Given the description of an element on the screen output the (x, y) to click on. 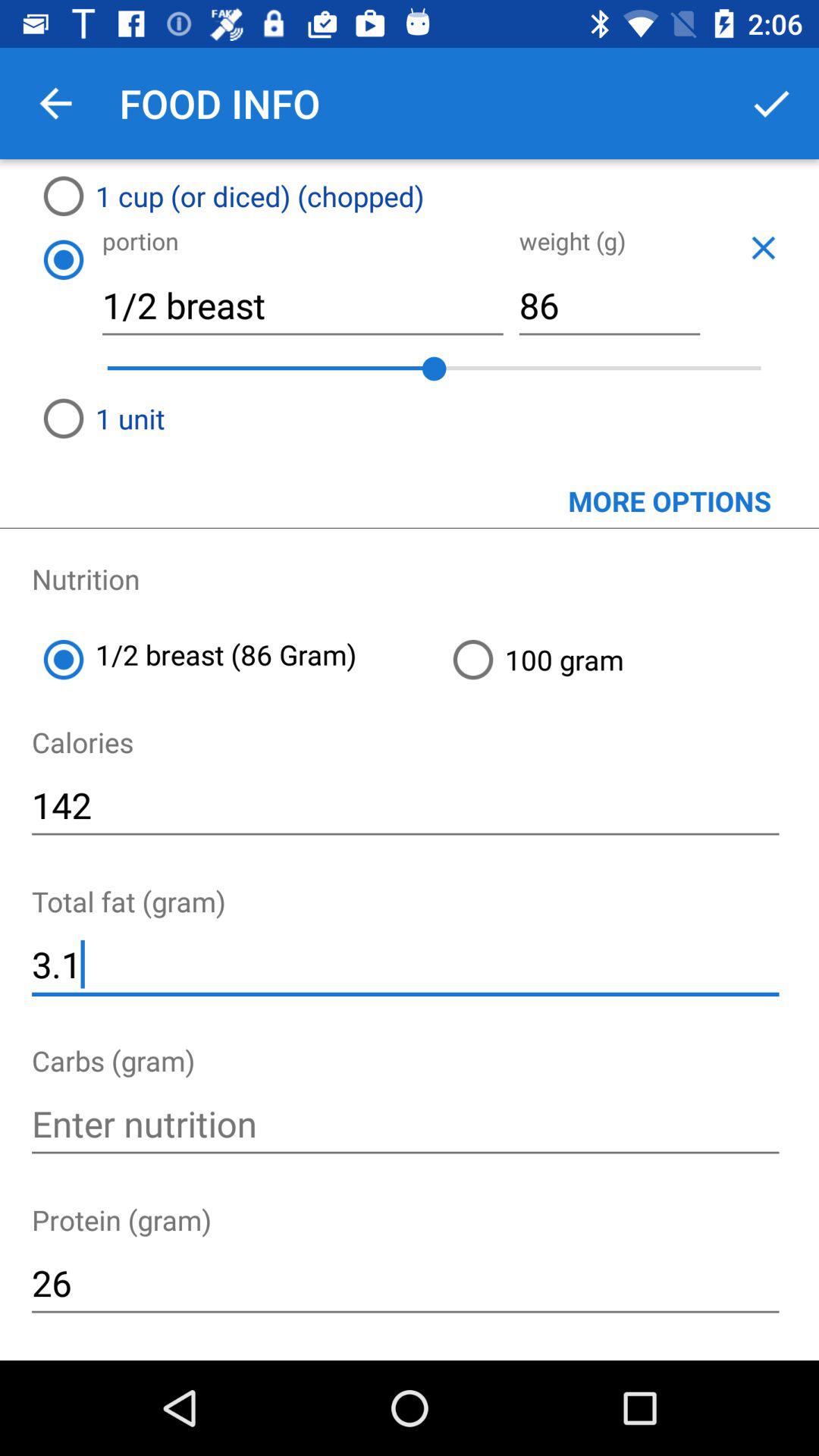
swipe to 100 gram (630, 659)
